Given the description of an element on the screen output the (x, y) to click on. 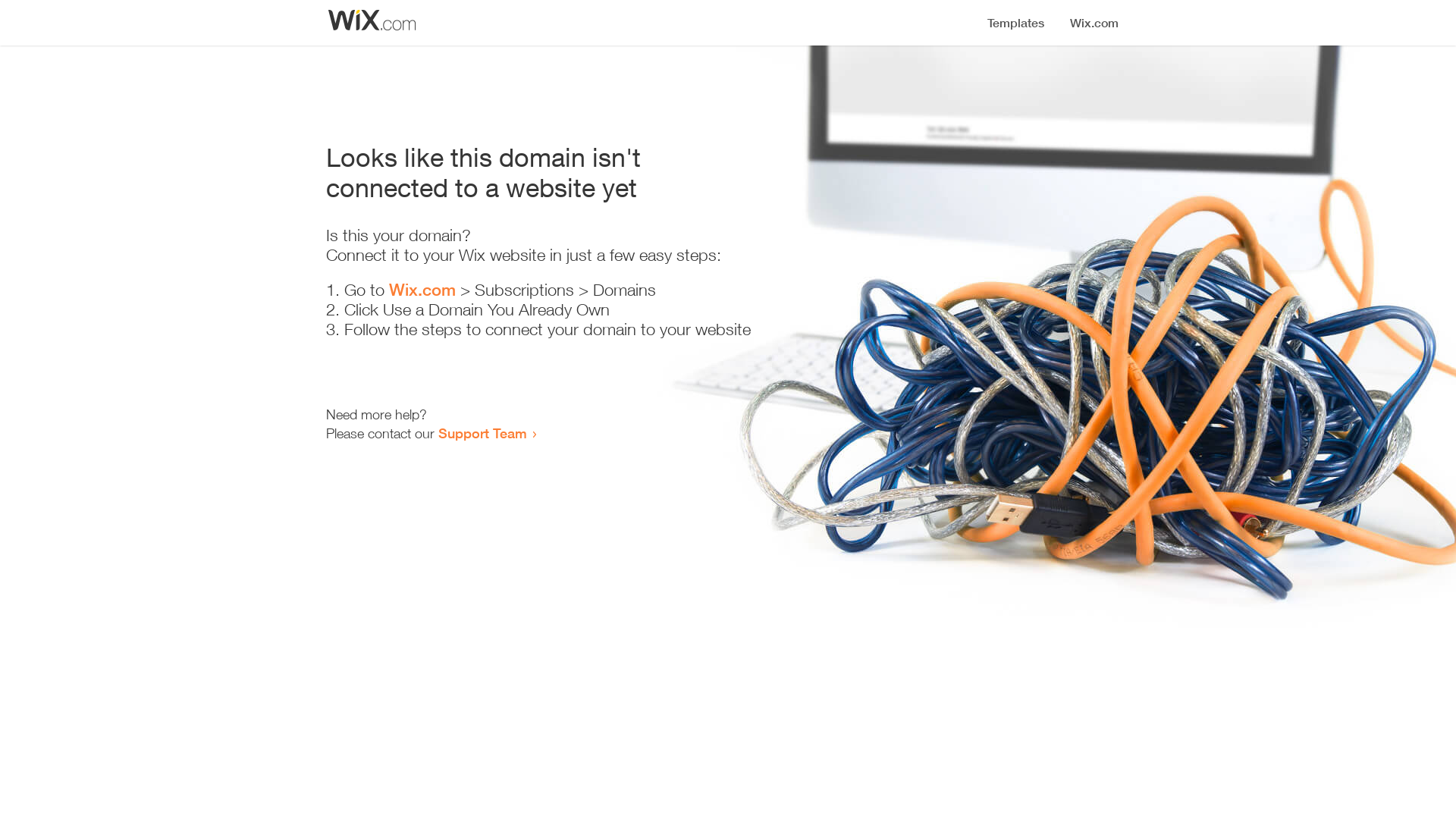
Wix.com Element type: text (422, 289)
Support Team Element type: text (482, 432)
